Given the description of an element on the screen output the (x, y) to click on. 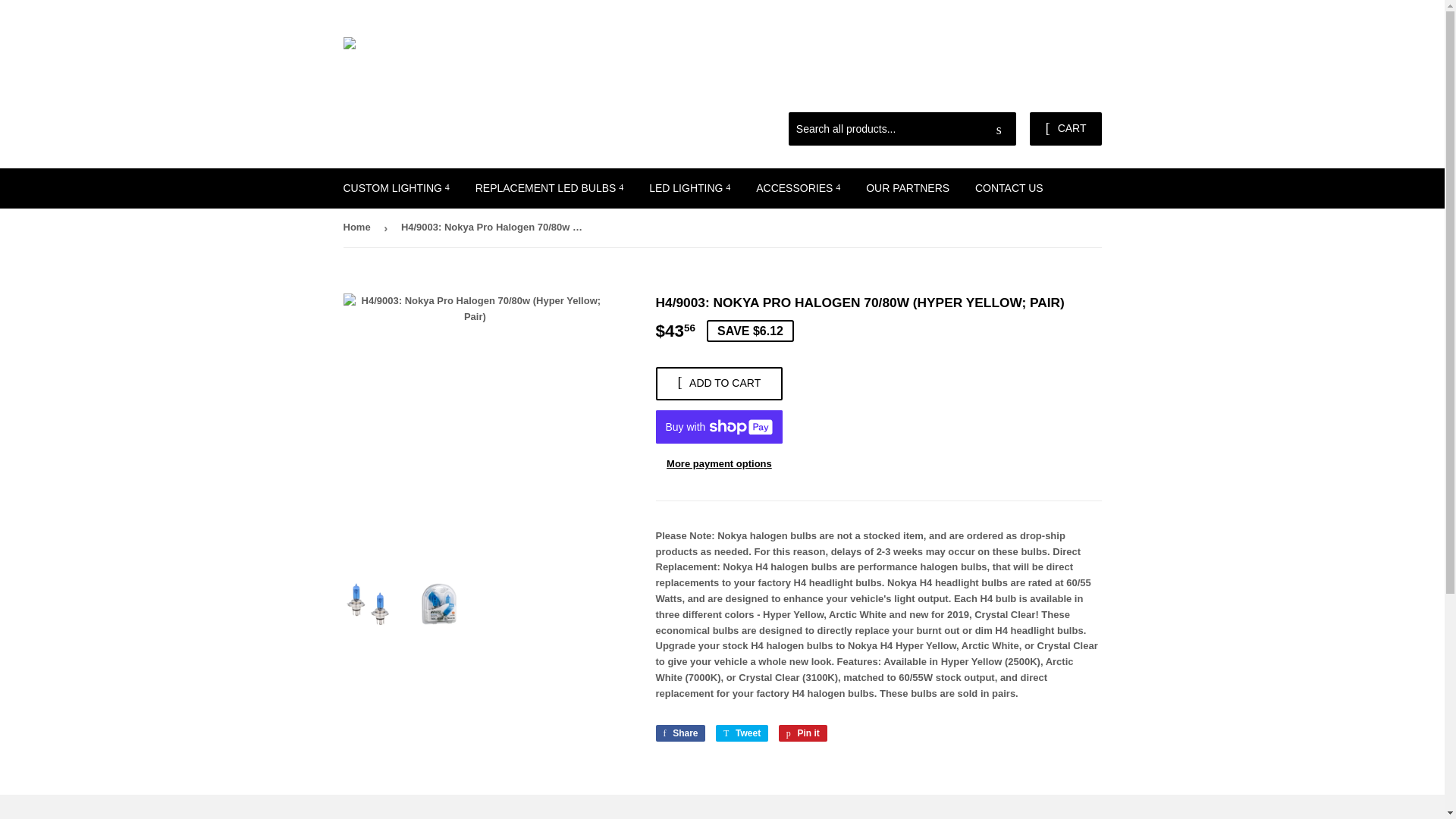
Share on Facebook (679, 733)
Pin on Pinterest (802, 733)
Create an Account (1063, 93)
CART (1064, 128)
Sign in (992, 93)
Search (998, 129)
Tweet on Twitter (742, 733)
